Given the description of an element on the screen output the (x, y) to click on. 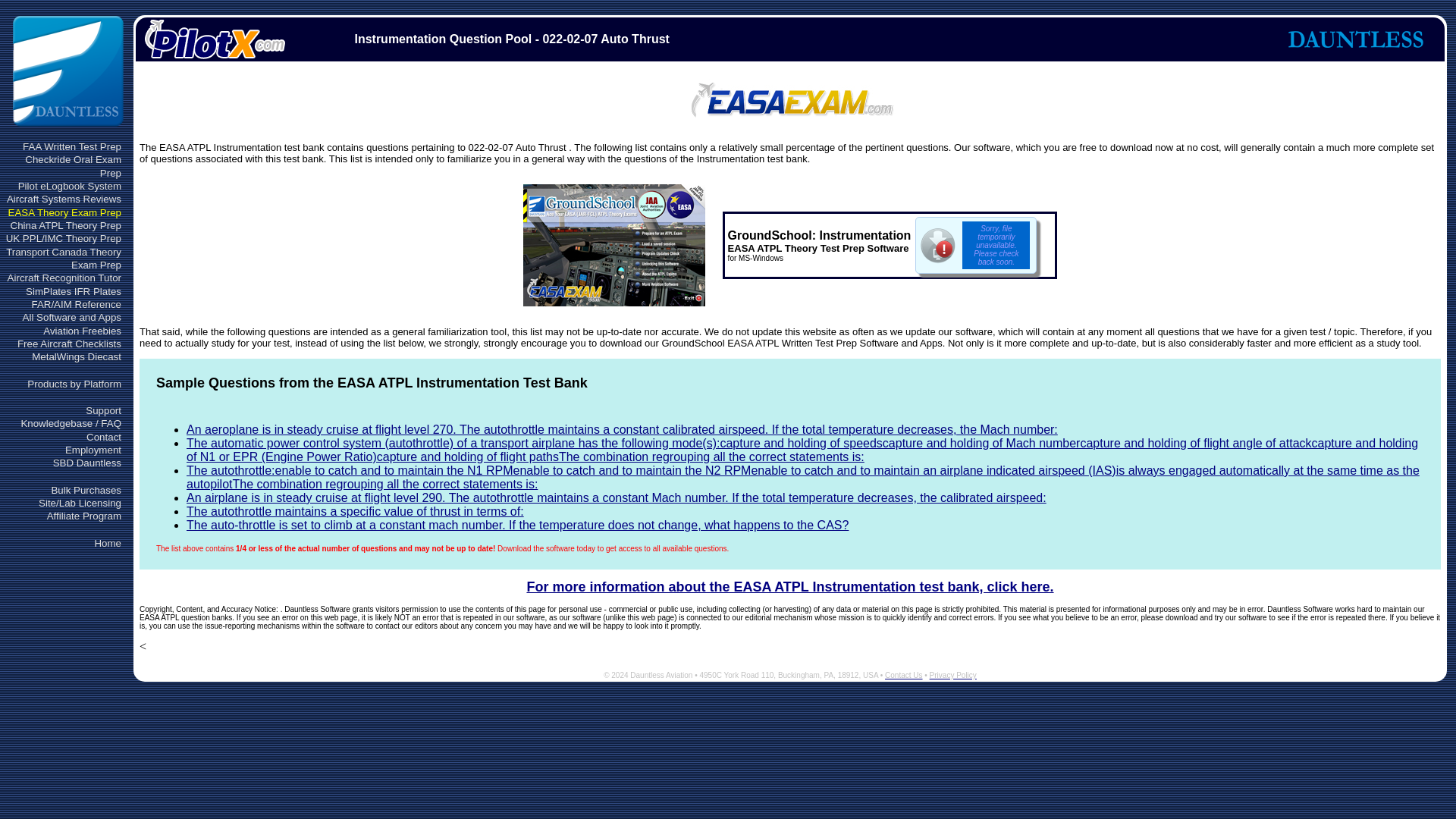
Bulk Purchases (85, 490)
EASA Theory Exam Prep (64, 212)
Affiliate Program (83, 515)
China ATPL Theory Prep (65, 225)
Aircraft Systems ReviewsAircraft Systems Reviews (63, 198)
FAA Practical Test Oral Exam Prep (72, 165)
China ATPL Theory Prep (65, 225)
SimPlates IFR Plates (73, 291)
Home (107, 542)
Aircraft Recognition Tutor (63, 277)
Aircraft Systems Reviews (63, 198)
SimPlates IFR Approach Plates for Simulator Pilots (73, 291)
Free Aircraft Checklists (68, 343)
